Given the description of an element on the screen output the (x, y) to click on. 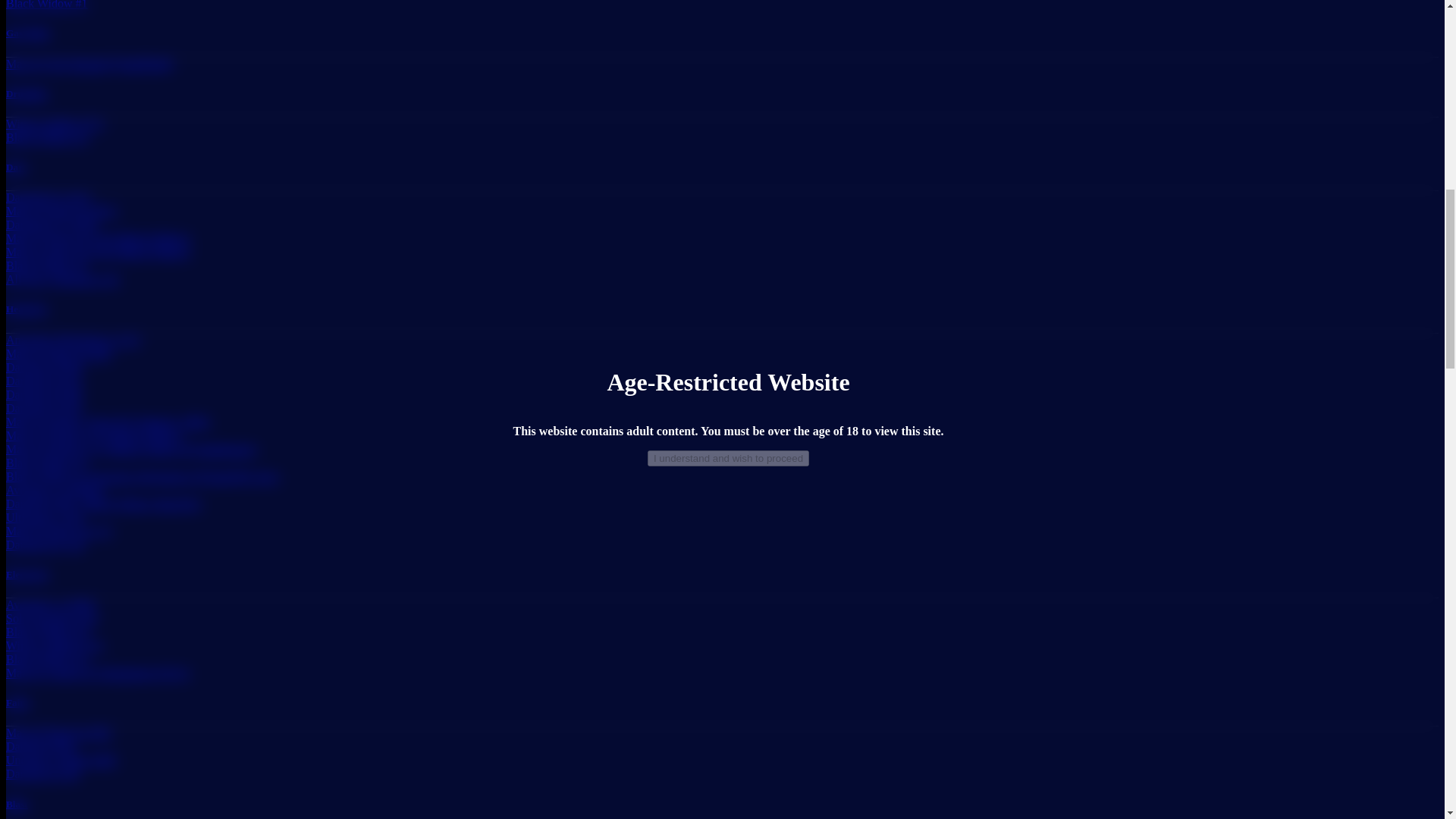
Gas Mask (27, 32)
Dart (15, 166)
Drugging (25, 93)
